Given the description of an element on the screen output the (x, y) to click on. 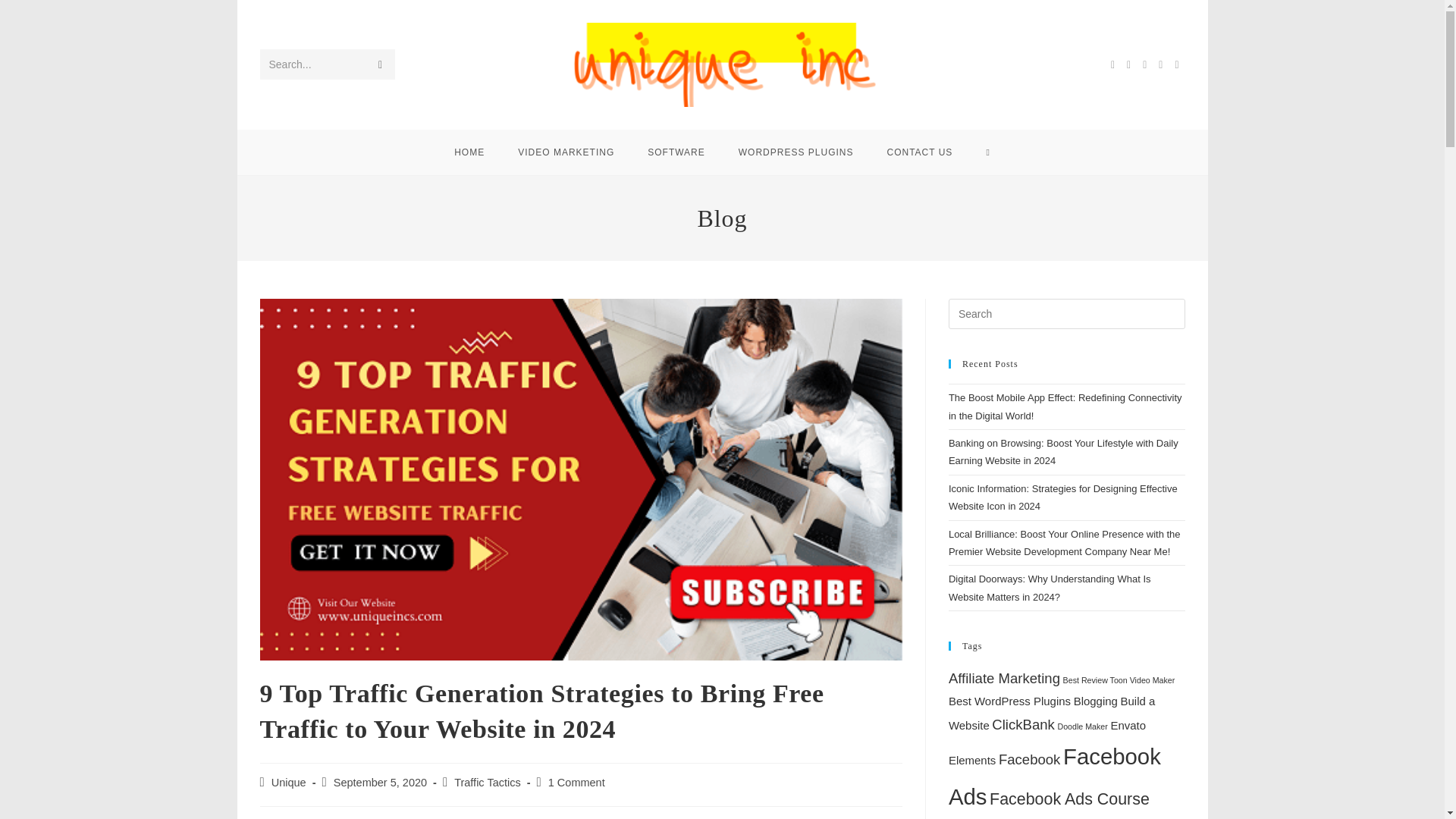
Submit search (379, 64)
Posts by Unique (287, 782)
VIDEO MARKETING (565, 152)
WORDPRESS PLUGINS (796, 152)
Unique (287, 782)
Traffic Tactics (487, 782)
CONTACT US (919, 152)
TOGGLE WEBSITE SEARCH (987, 152)
SOFTWARE (676, 152)
HOME (469, 152)
1 Comment (576, 782)
